Given the description of an element on the screen output the (x, y) to click on. 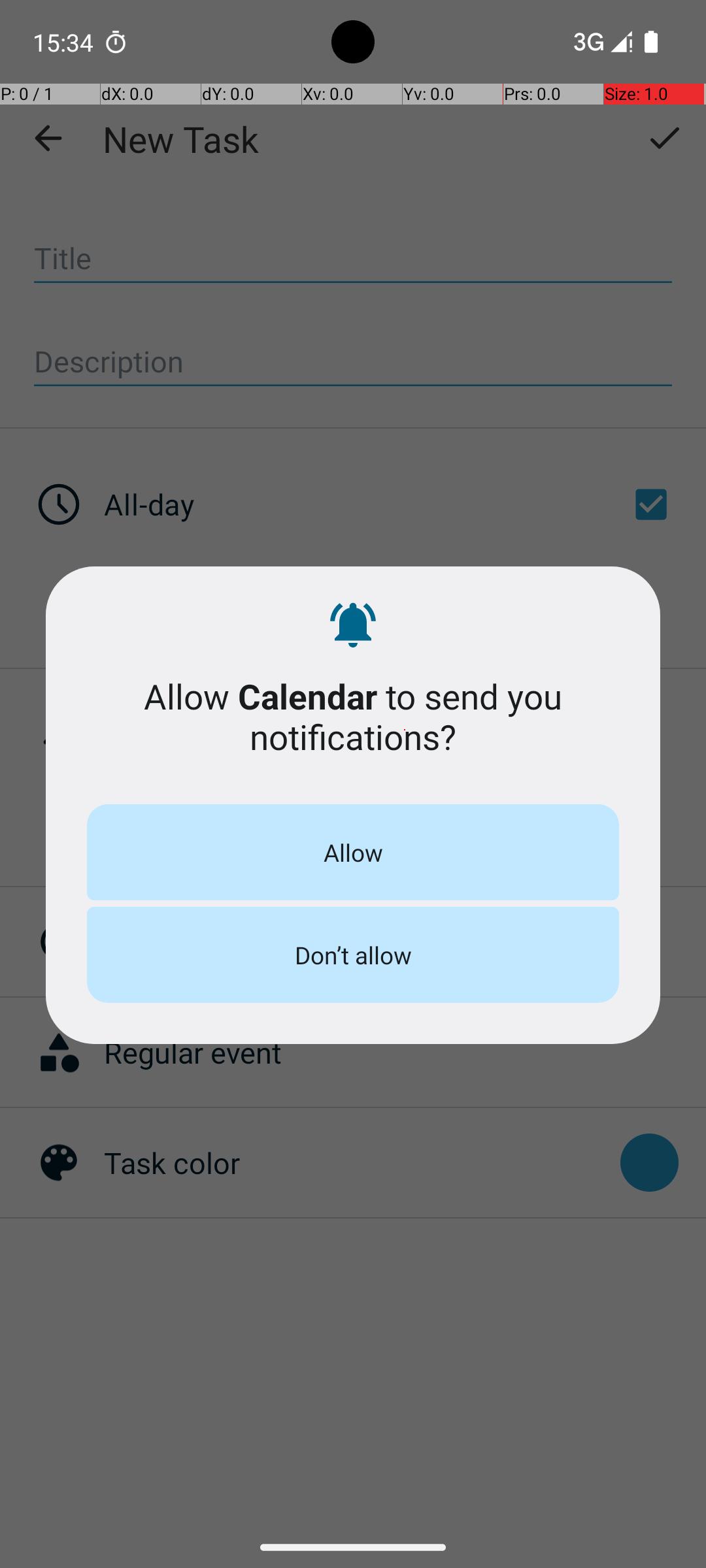
Allow Calendar to send you notifications? Element type: android.widget.TextView (352, 715)
